Given the description of an element on the screen output the (x, y) to click on. 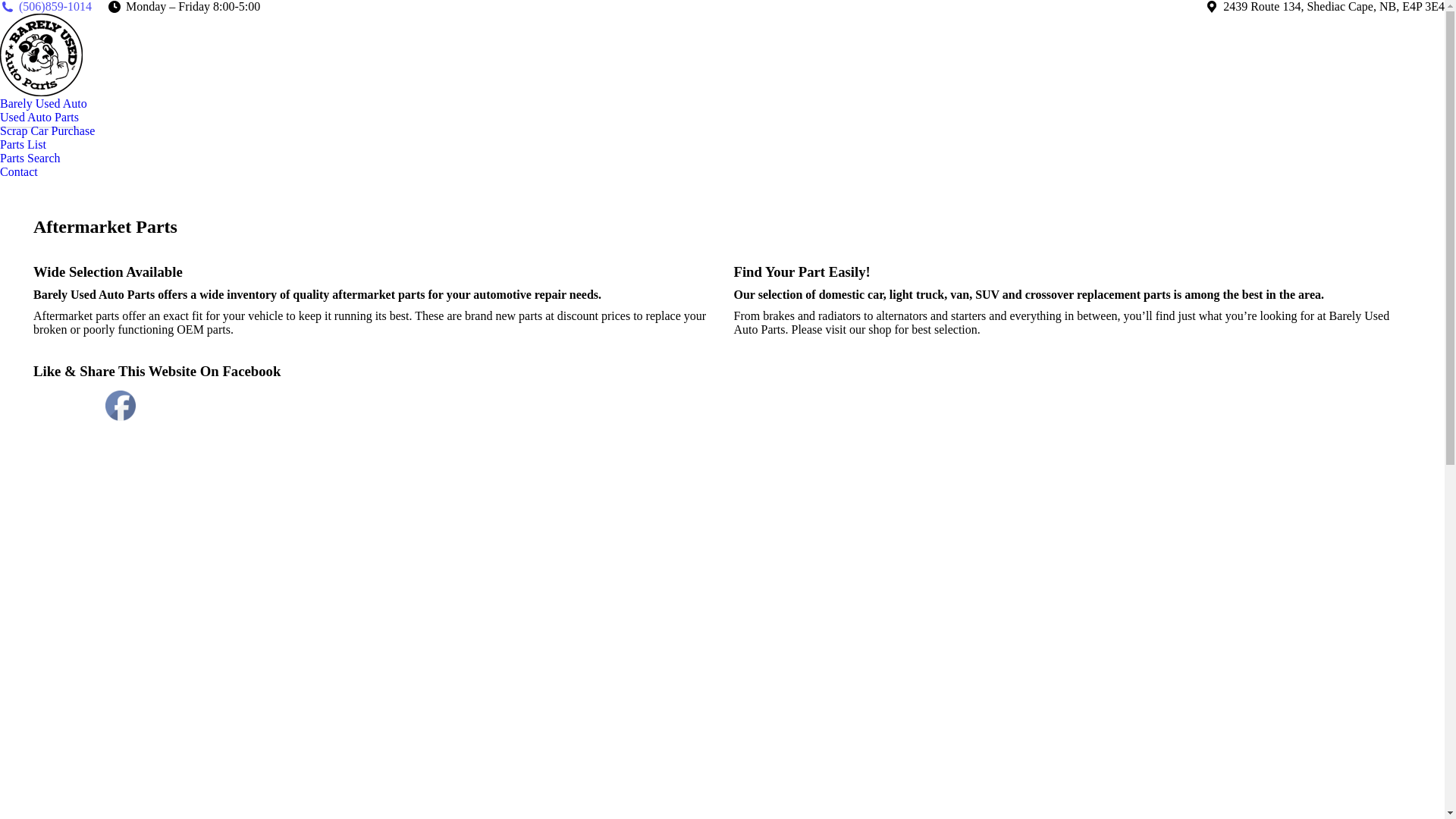
Used Auto Parts Element type: text (39, 117)
Scrap Car Purchase Element type: text (47, 131)
Parts List Element type: text (23, 144)
Parts Search Element type: text (30, 158)
Barely Used Auto Element type: text (43, 103)
Facebook Element type: hover (120, 405)
Contact Element type: text (18, 171)
(506)859-1014 Element type: text (45, 6)
